Given the description of an element on the screen output the (x, y) to click on. 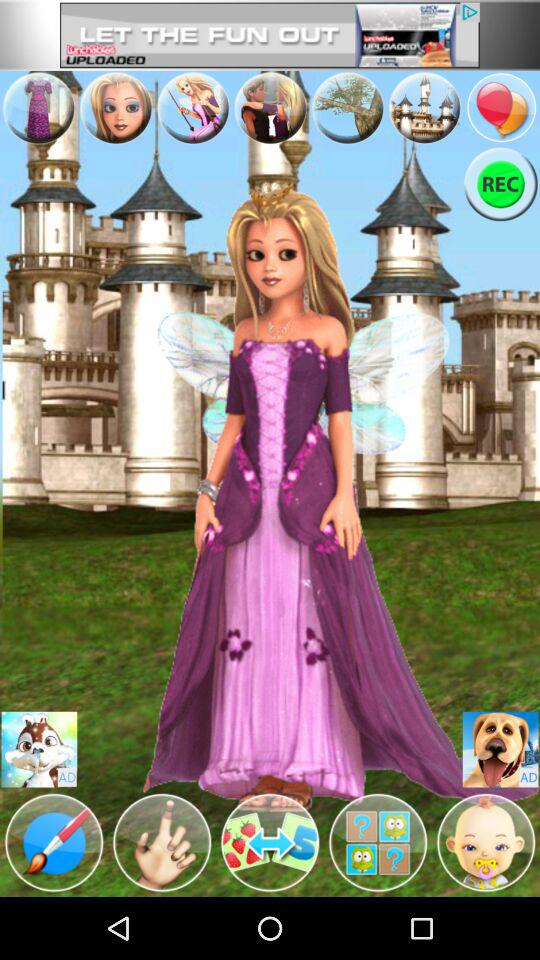
select advertisement (270, 35)
